Given the description of an element on the screen output the (x, y) to click on. 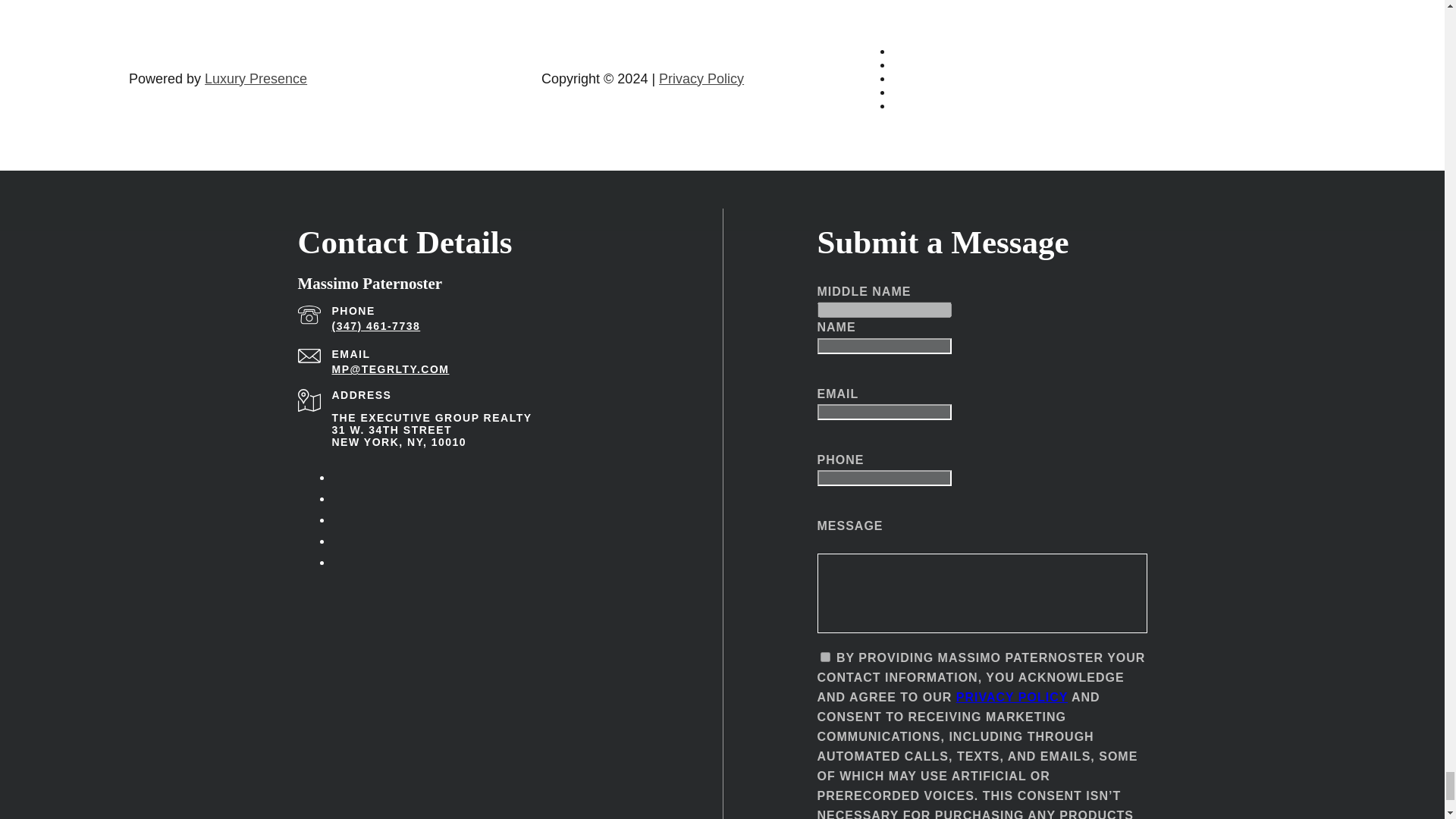
on (825, 656)
